Given the description of an element on the screen output the (x, y) to click on. 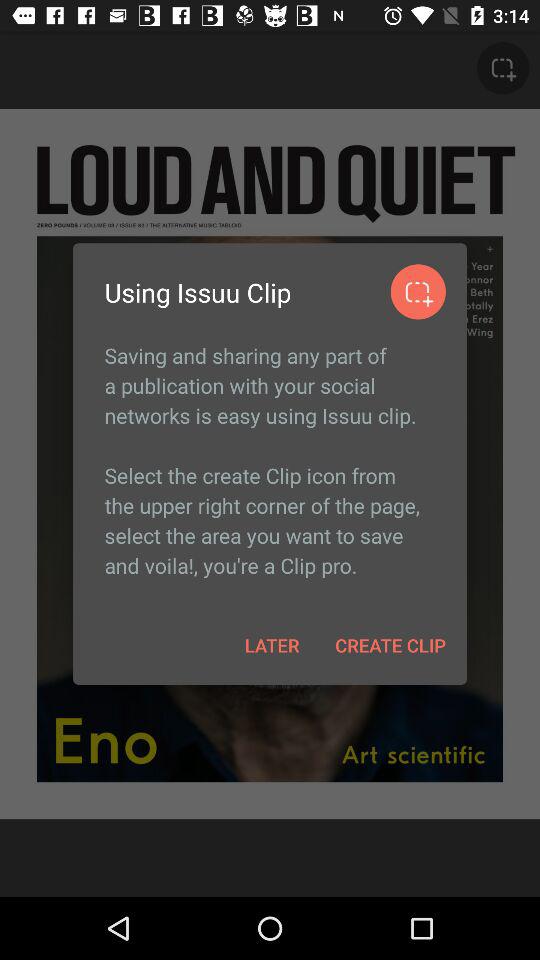
choose the item above later item (269, 460)
